Given the description of an element on the screen output the (x, y) to click on. 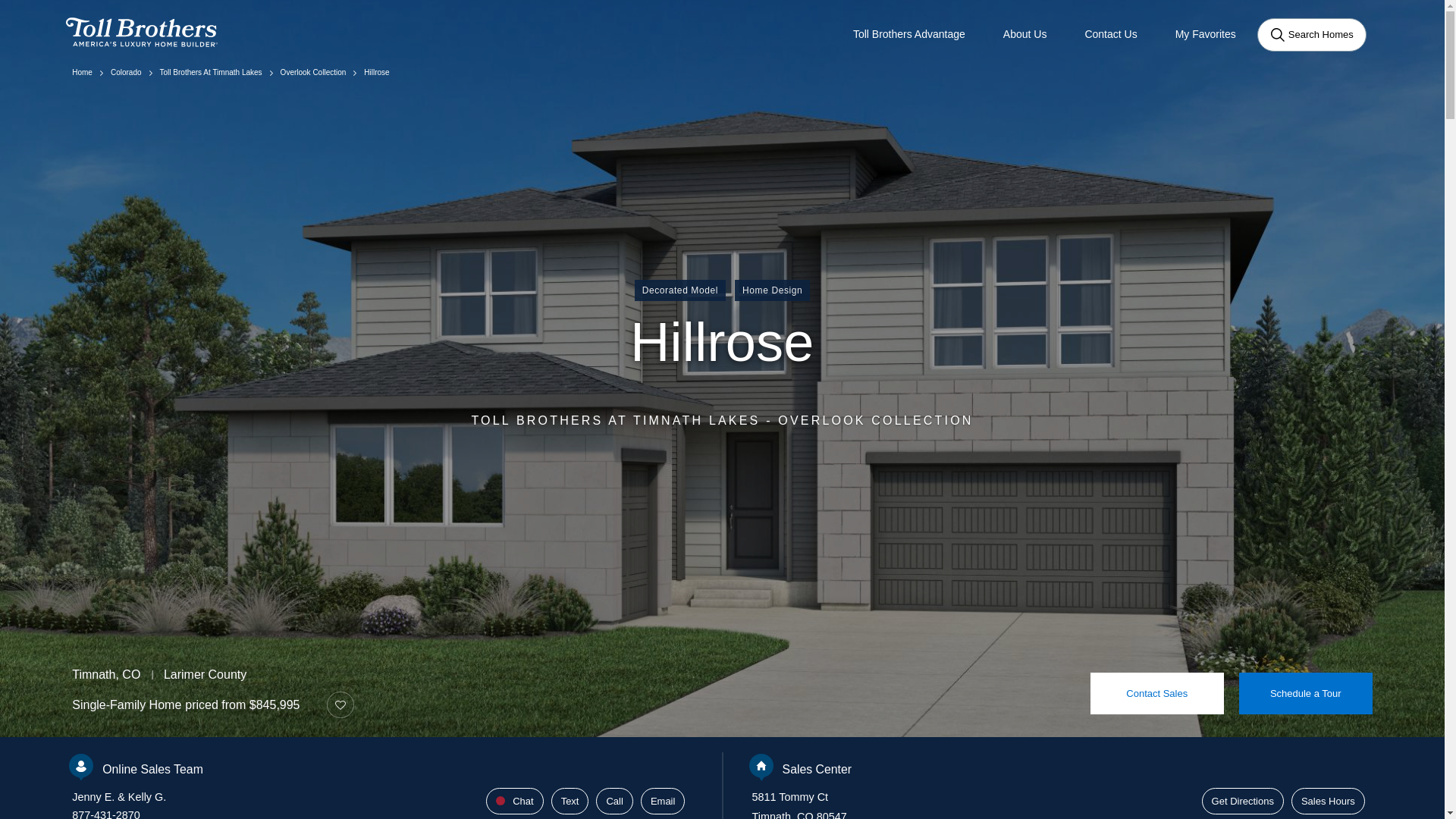
Sales Hours (1328, 800)
Toll Brothers Advantage (909, 34)
My Favorites (1205, 34)
Overlook Collection (313, 71)
Contact Us (1110, 34)
Toll Brothers Advantage (909, 34)
Colorado (125, 71)
Get Directions (1243, 800)
Call our Online Sales Team (613, 800)
877-431-2870 (105, 814)
My Favorites (1205, 34)
Schedule a Tour (1306, 692)
Sales Hours (1328, 800)
Toll Brothers at Timnath Lakes (211, 71)
Contact Sales (1157, 692)
